Given the description of an element on the screen output the (x, y) to click on. 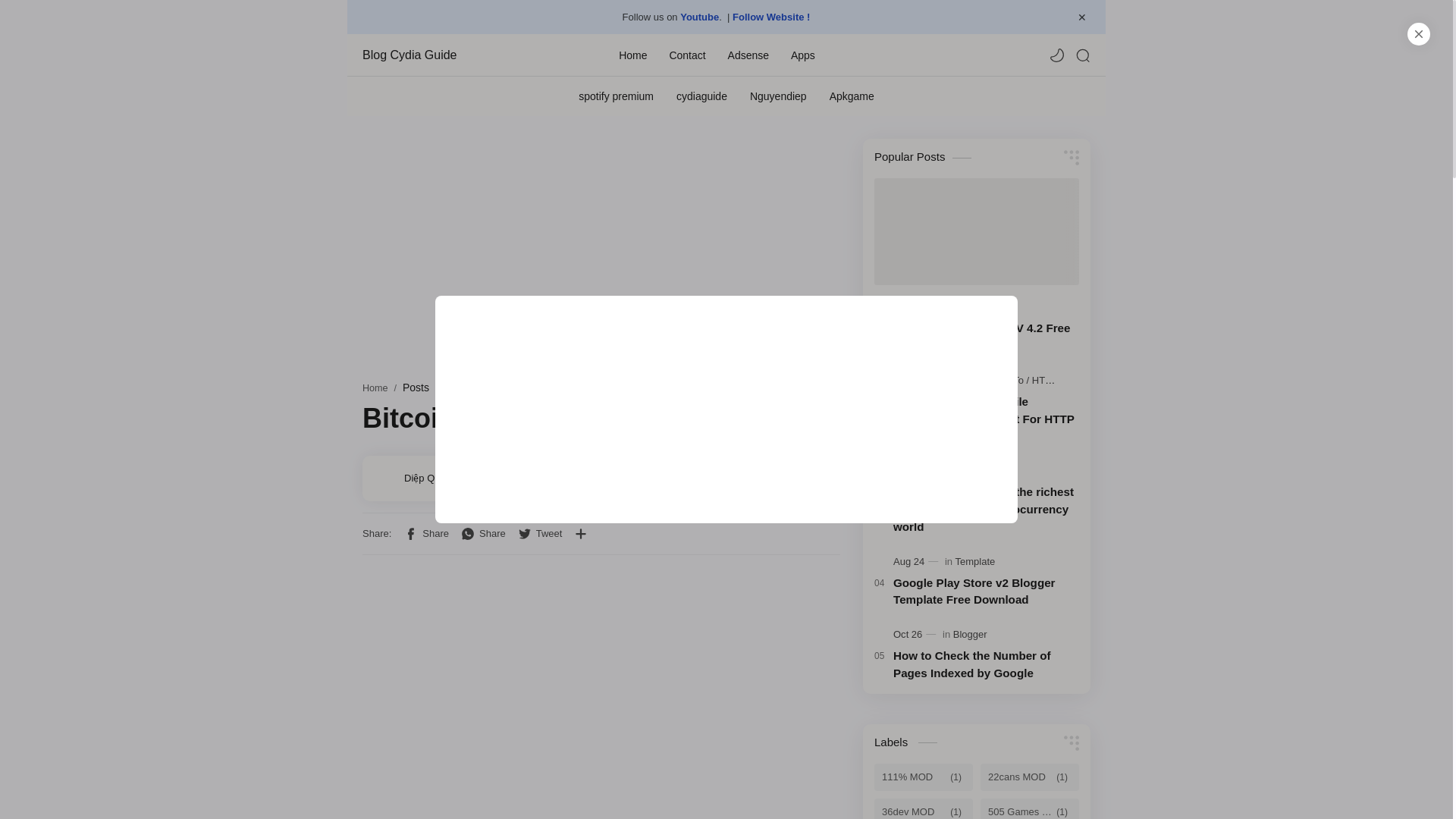
Home (632, 54)
Blog Cydia Guide (437, 55)
Contact (686, 54)
Youtube (699, 16)
Last updated: March 7, 2020 (510, 478)
